Given the description of an element on the screen output the (x, y) to click on. 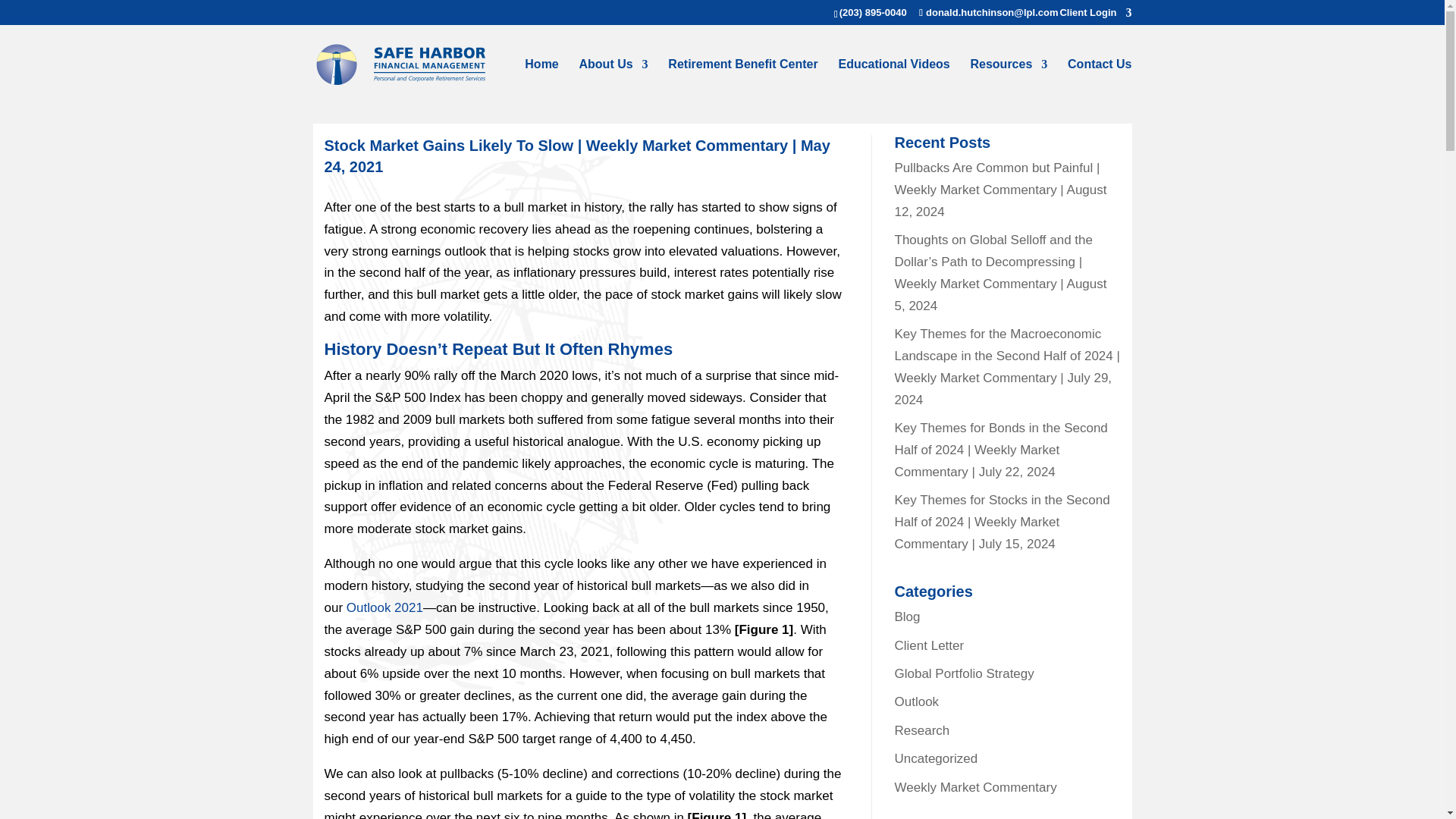
Contact Us (1099, 81)
About Us (613, 81)
Outlook 2021 (384, 607)
Educational Videos (893, 81)
Resources (1007, 81)
Client Login (1095, 16)
Retirement Benefit Center (742, 81)
